Given the description of an element on the screen output the (x, y) to click on. 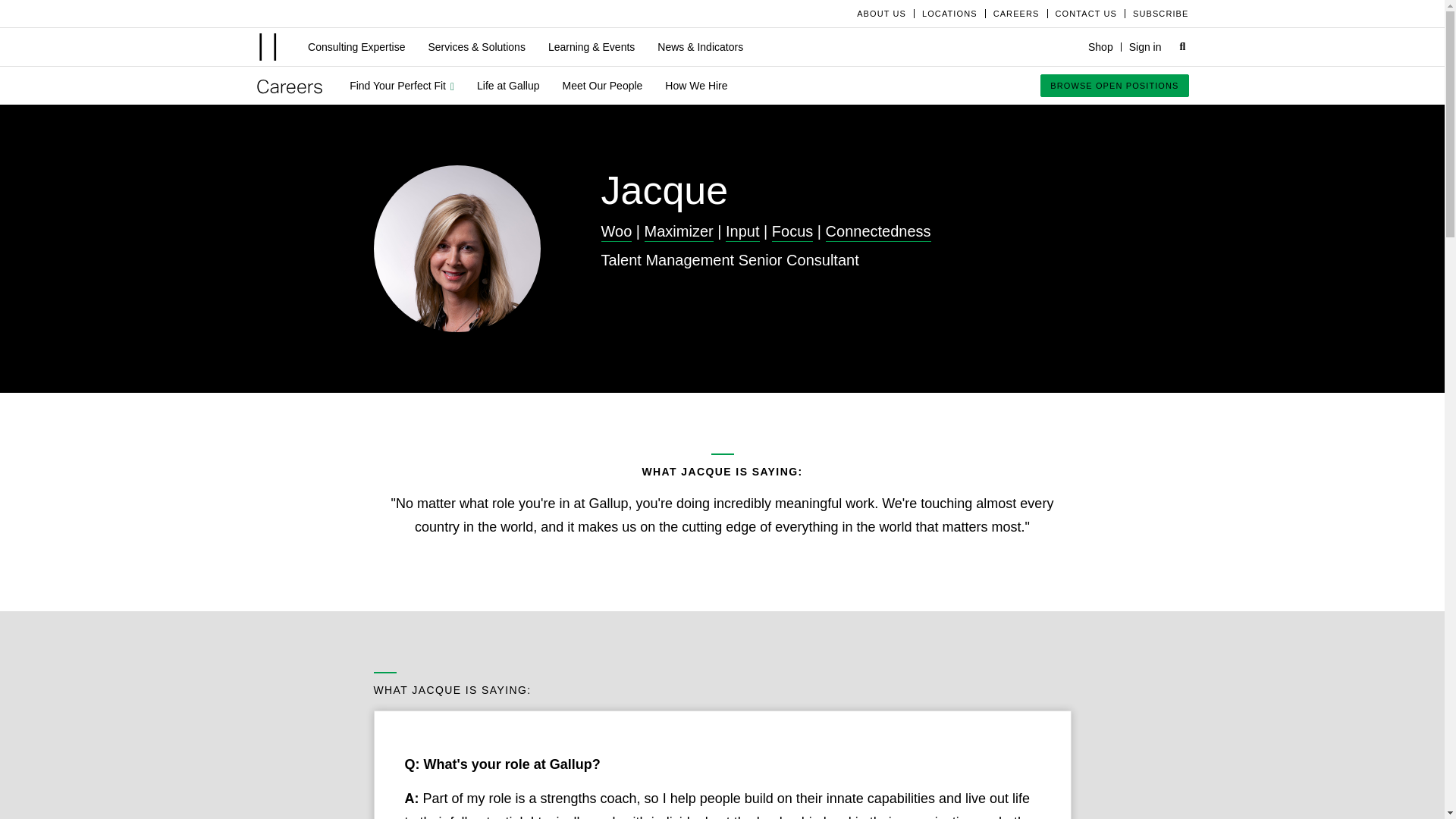
SUBSCRIBE (1156, 13)
ABOUT US (881, 13)
Careers (289, 86)
LOCATIONS (949, 13)
CAREERS (1015, 13)
CONTACT US (1085, 13)
